Given the description of an element on the screen output the (x, y) to click on. 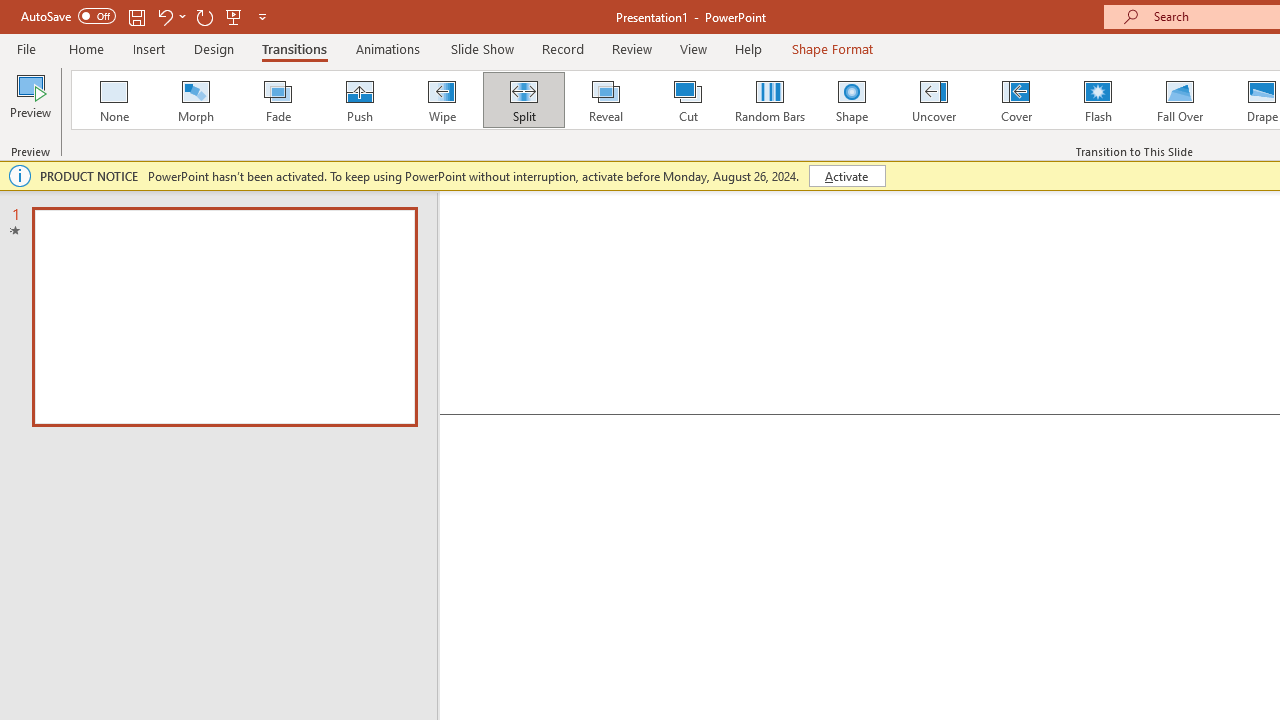
None (113, 100)
Flash (1098, 100)
Cover (1016, 100)
Morph (195, 100)
